Given the description of an element on the screen output the (x, y) to click on. 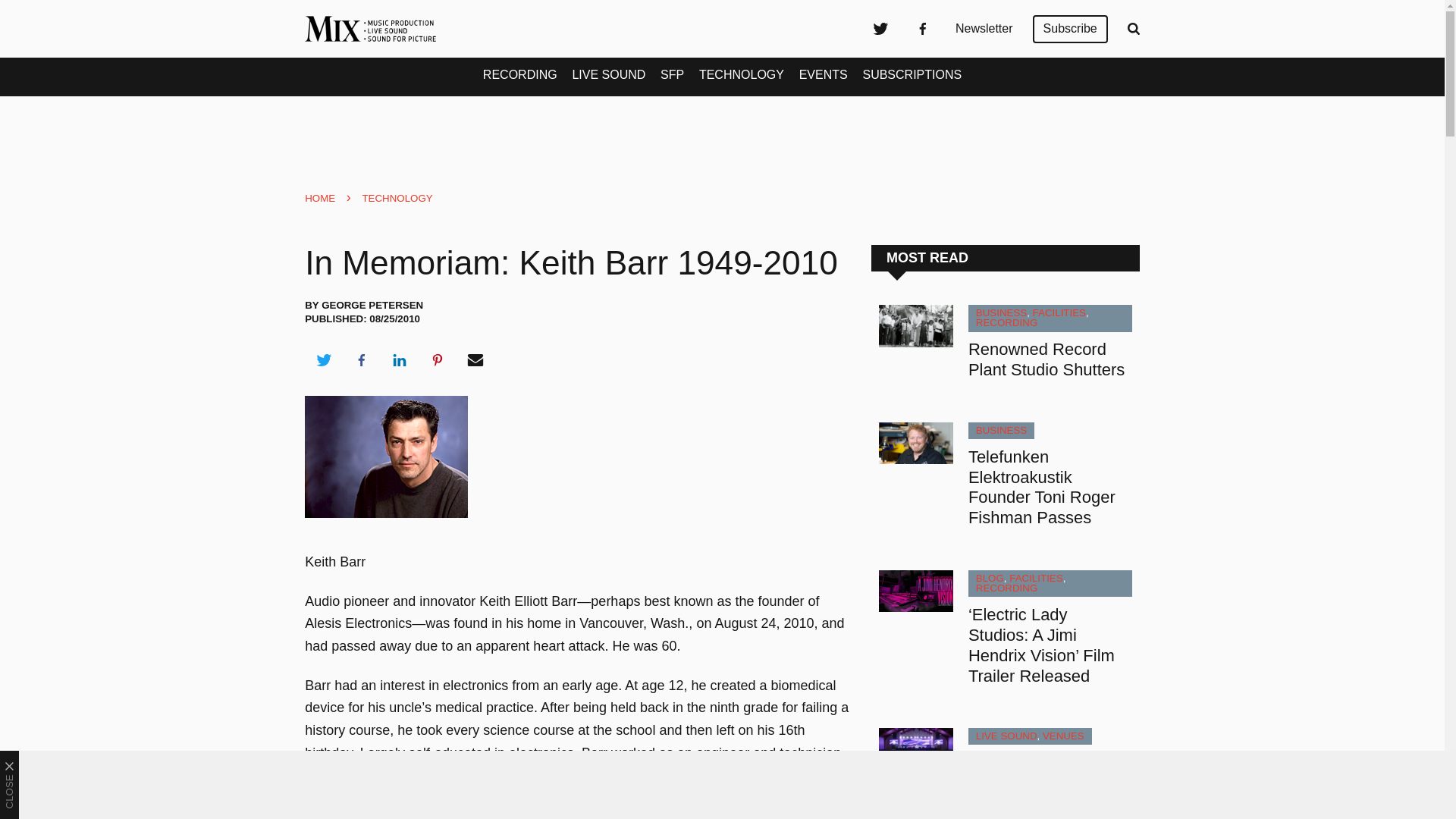
Share on LinkedIn (399, 360)
Share on Pinterest (438, 360)
Share on Facebook (361, 360)
Share on Twitter (323, 360)
Share via Email (476, 360)
